Given the description of an element on the screen output the (x, y) to click on. 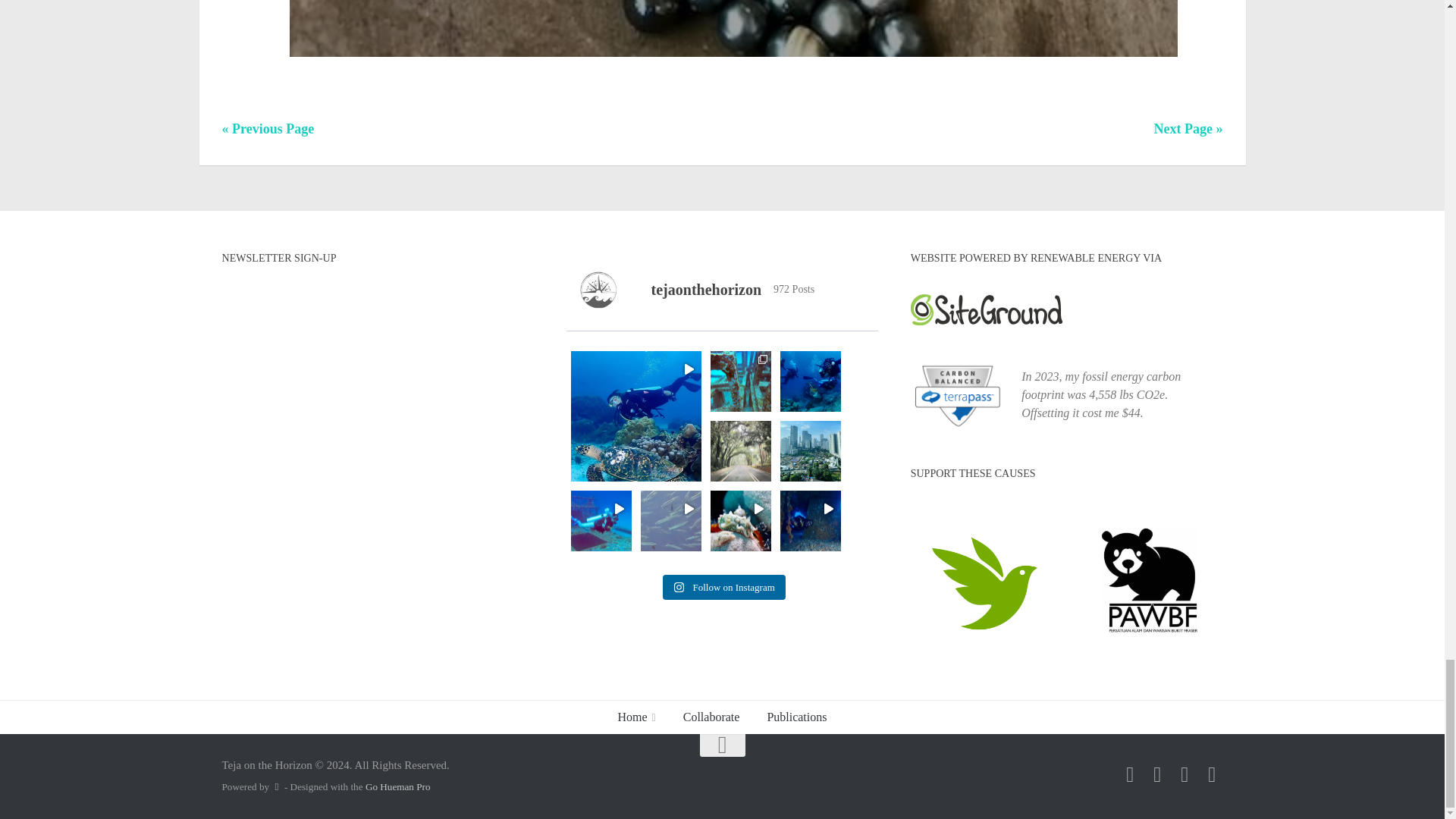
Follow us on Twitter (1212, 774)
Go Hueman Pro (397, 786)
Low effort, high value: Black pearl farming in Polynesia (732, 58)
Powered by WordPress (275, 786)
Come to the Horizon (1184, 774)
Will You Look Twice? (1157, 774)
Join the Horizon (1129, 774)
